Given the description of an element on the screen output the (x, y) to click on. 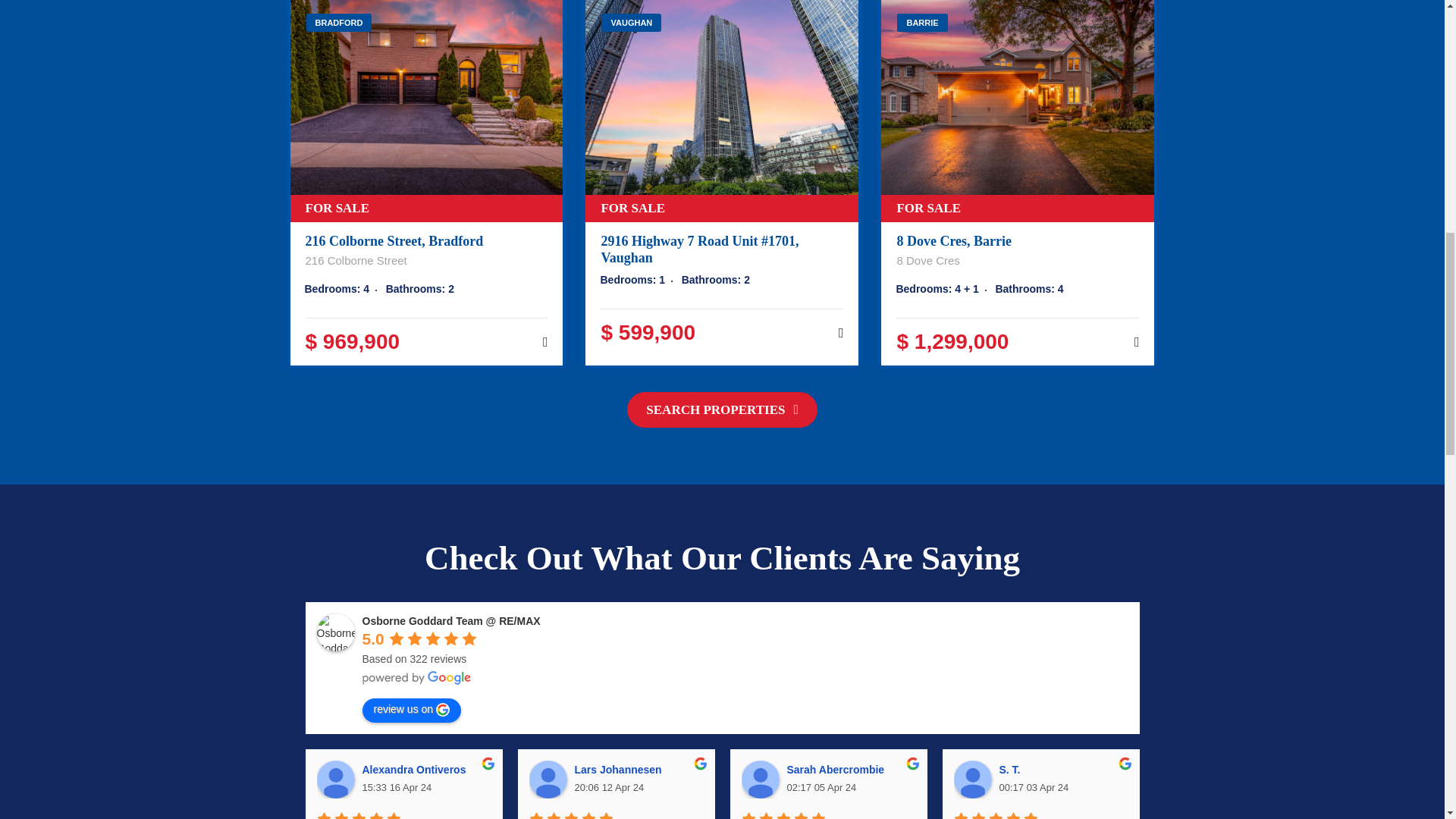
powered by Google (416, 677)
216 Colborne Street, Bradford (393, 240)
8 Dove Cres, Barrie (1017, 110)
216 Colborne Street, Bradford (425, 110)
S. T. (972, 779)
Lars Johannesen (548, 779)
8 Dove Cres, Barrie (953, 240)
Sarah Abercrombie (759, 779)
Alexandra Ontiveros (336, 779)
